Given the description of an element on the screen output the (x, y) to click on. 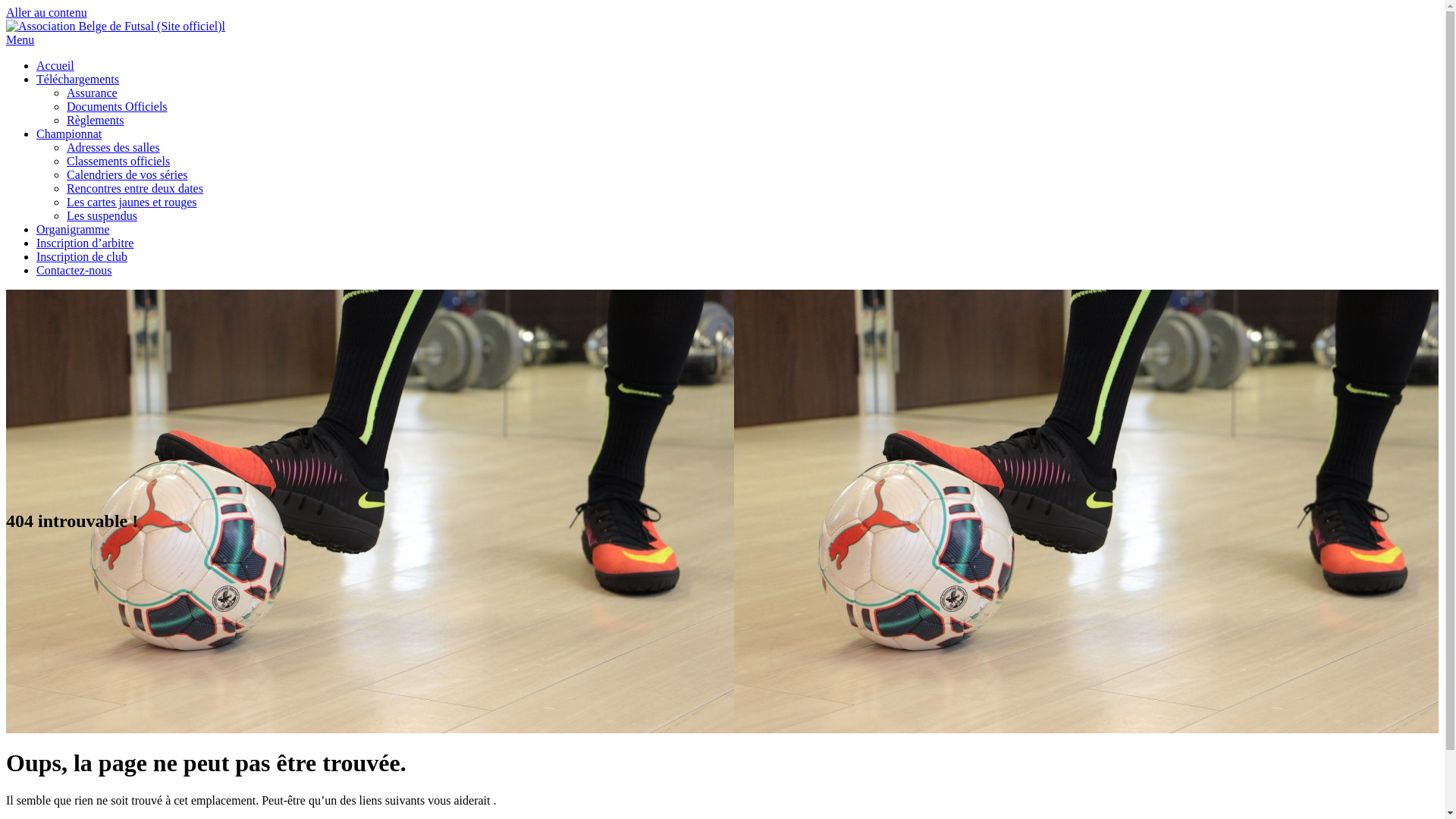
Menu Element type: text (20, 39)
Classements officiels Element type: text (117, 160)
Documents Officiels Element type: text (116, 106)
Organigramme Element type: text (72, 228)
Inscription de club Element type: text (81, 256)
Championnat Element type: text (68, 133)
Les suspendus Element type: text (101, 215)
Les cartes jaunes et rouges Element type: text (131, 201)
Contactez-nous Element type: text (74, 269)
Accueil Element type: text (55, 65)
Assurance Element type: text (91, 92)
Adresses des salles Element type: text (113, 147)
Rencontres entre deux dates Element type: text (134, 188)
Aller au contenu Element type: text (46, 12)
